Given the description of an element on the screen output the (x, y) to click on. 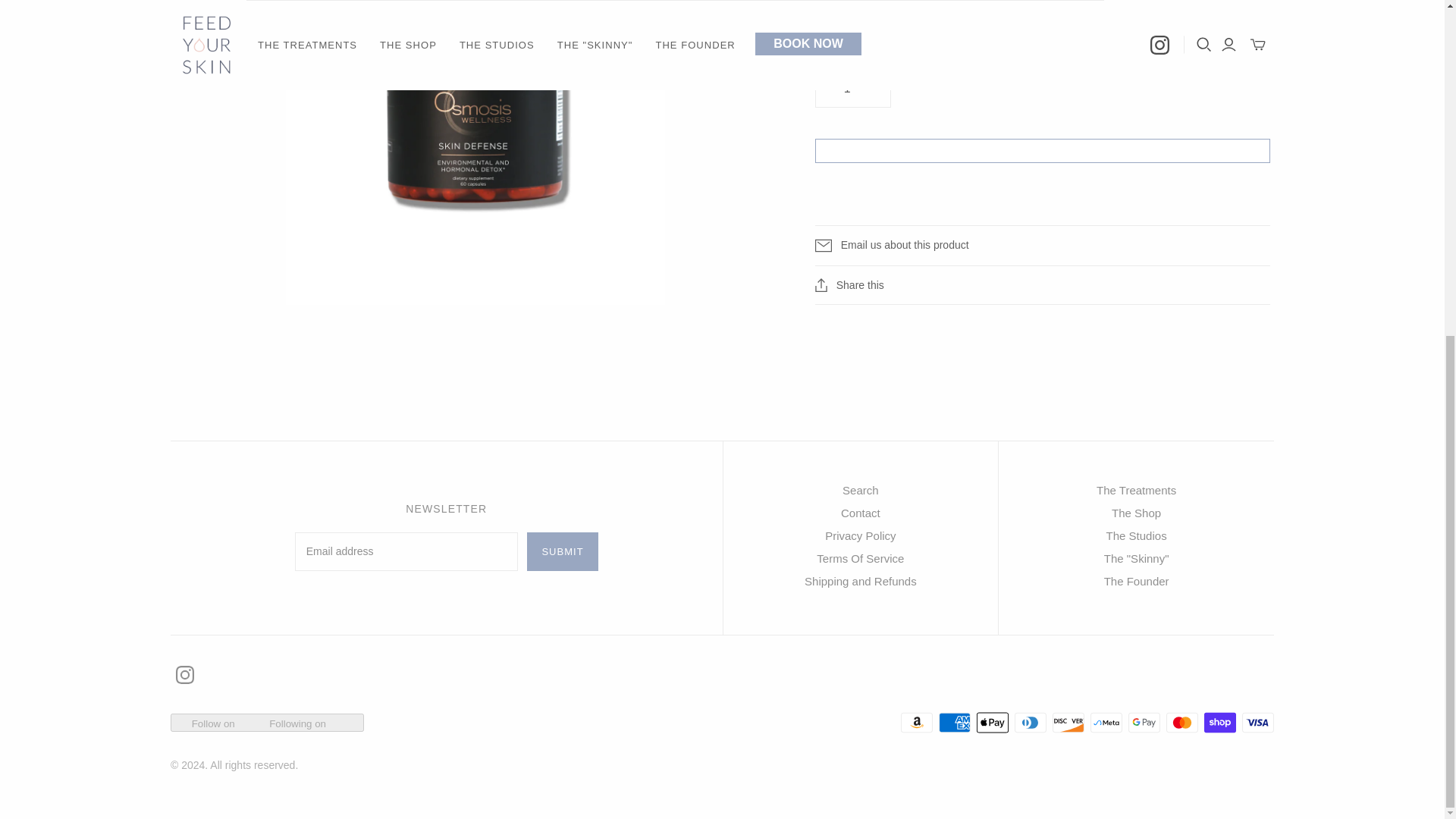
Mastercard (1182, 722)
Diners Club (1030, 722)
Email us about this product (1042, 246)
Meta Pay (1106, 722)
Amazon (917, 722)
1 (853, 88)
Discover (1068, 722)
Visa (1257, 722)
Apple Pay (992, 722)
American Express (955, 722)
